Given the description of an element on the screen output the (x, y) to click on. 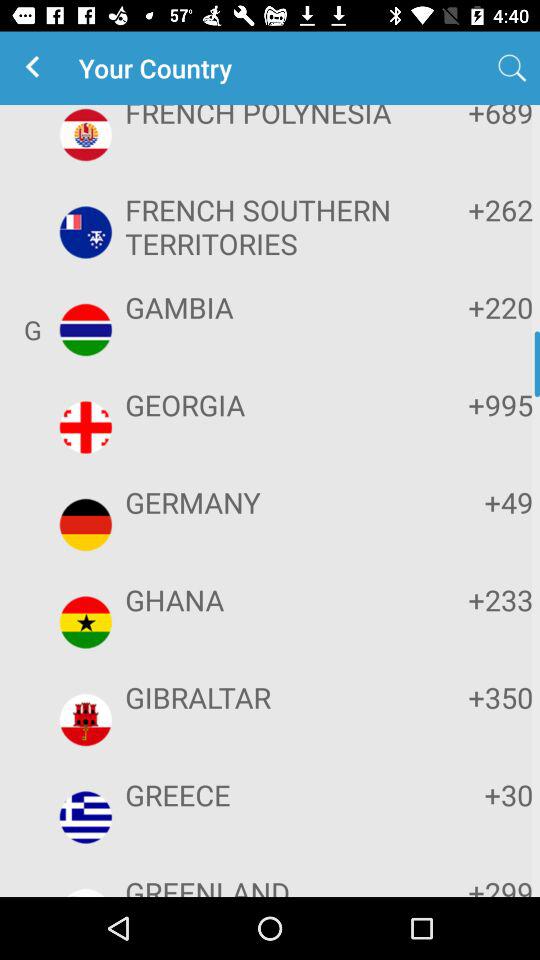
launch item next to the germany icon (471, 502)
